Given the description of an element on the screen output the (x, y) to click on. 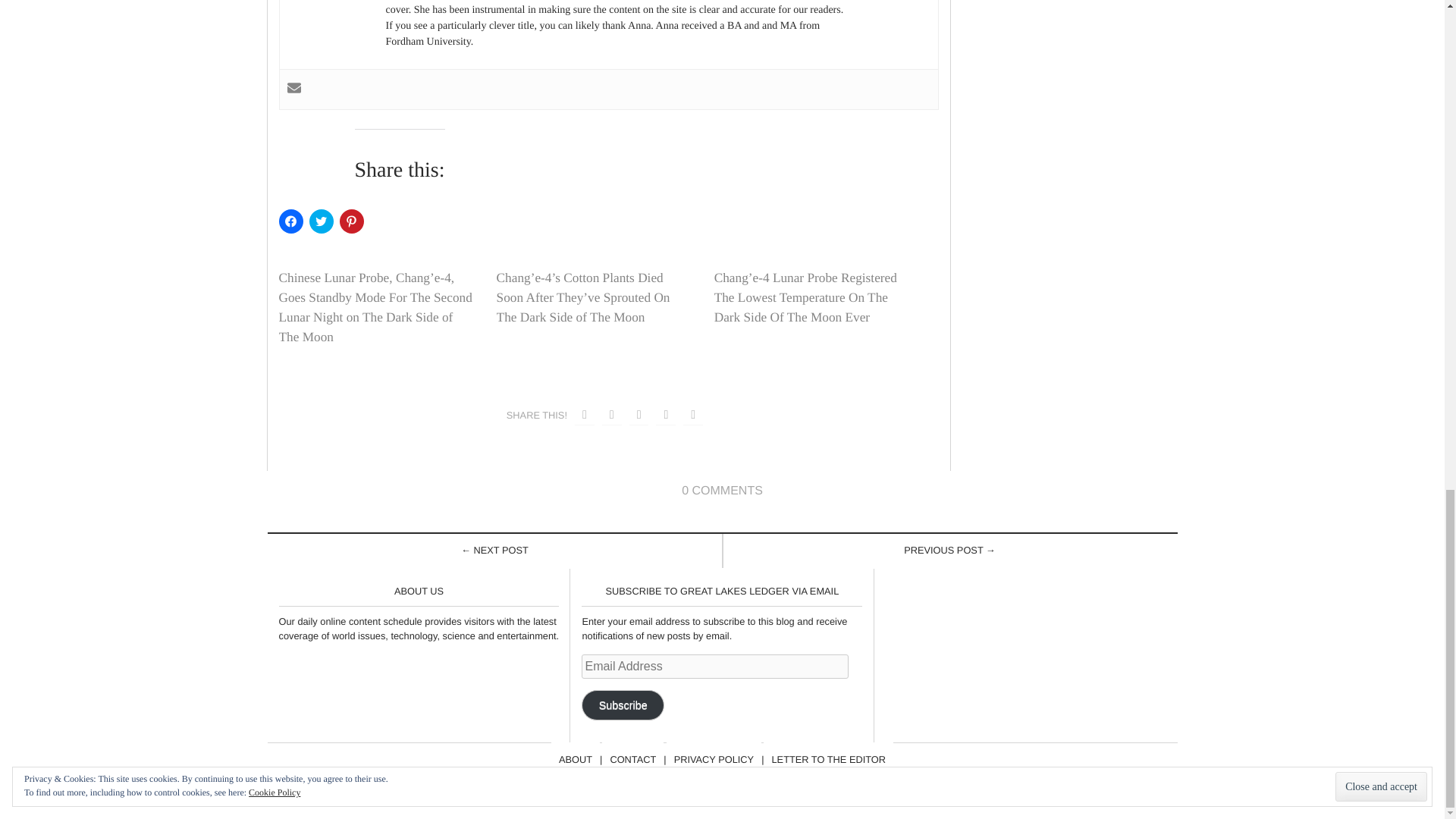
Click to share on Twitter (320, 221)
Share on Facebook. (584, 415)
Click to share on Facebook (290, 221)
Share on LinkedIn (692, 415)
Tweet this! (611, 415)
Click to share on Pinterest (351, 221)
Share on LinkedIn (665, 415)
